Given the description of an element on the screen output the (x, y) to click on. 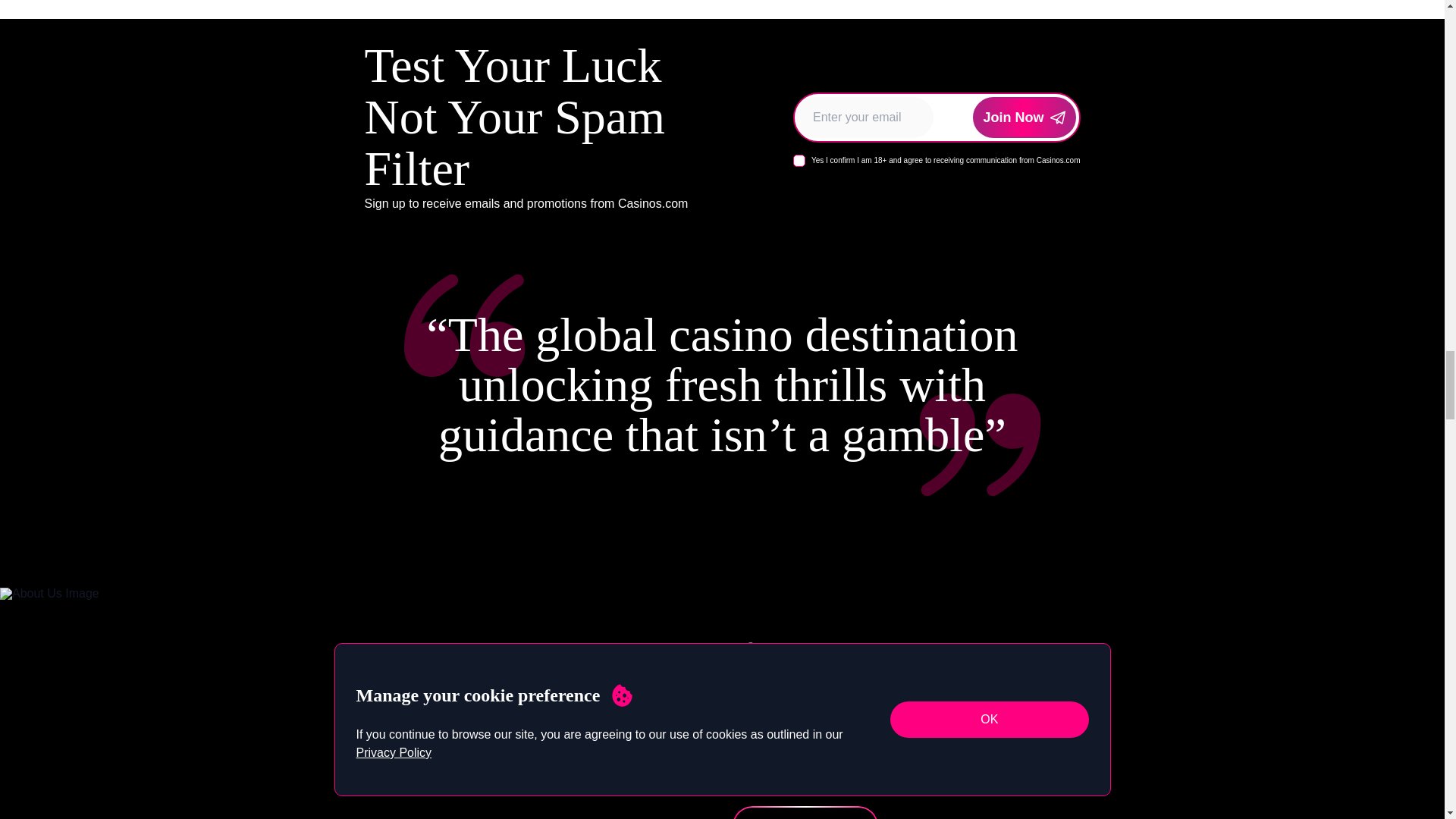
1 (799, 160)
